Given the description of an element on the screen output the (x, y) to click on. 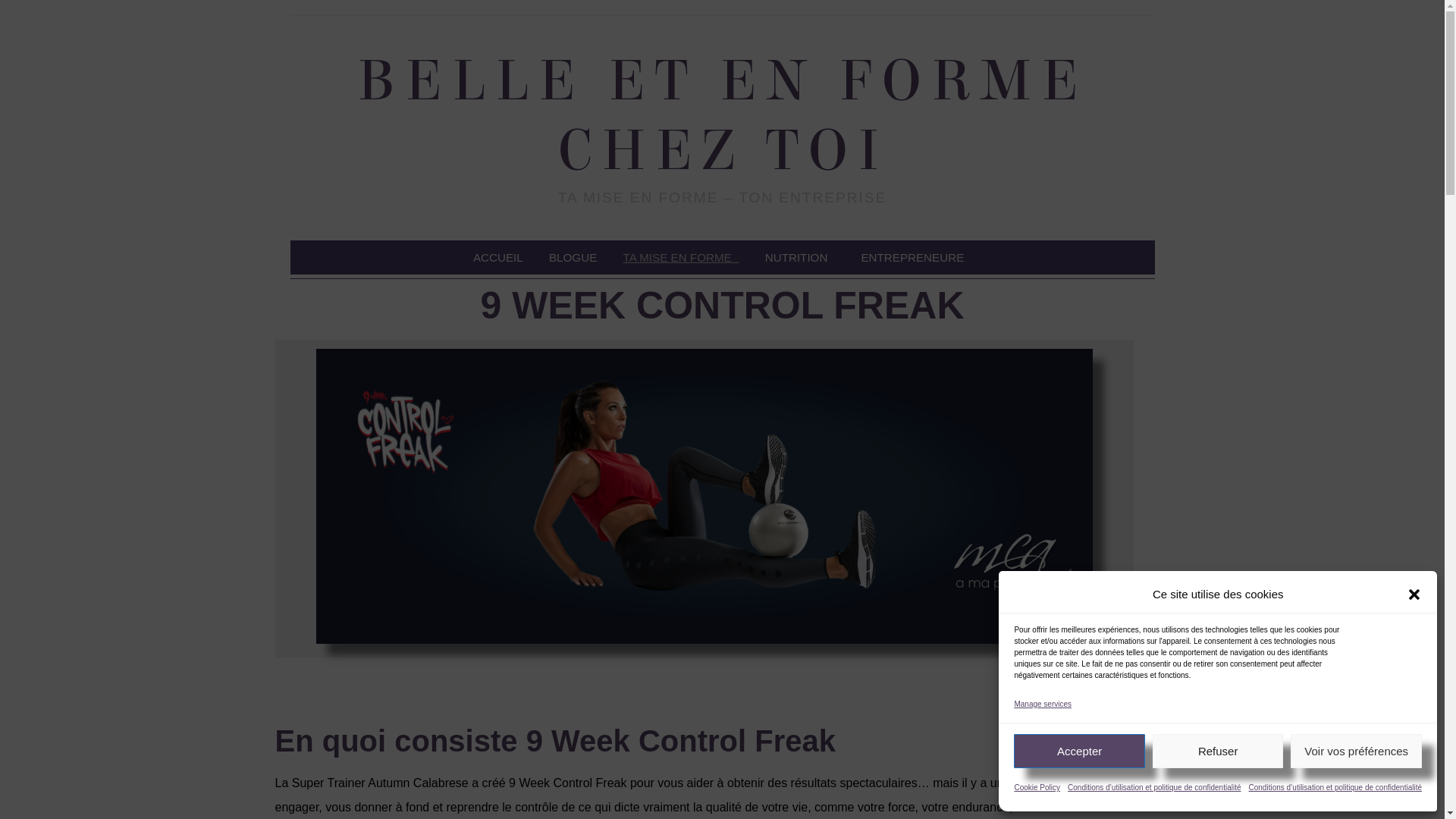
Accepter Element type: text (1079, 751)
Cookie Policy Element type: text (1036, 787)
ENTREPRENEURE Element type: text (915, 257)
NUTRITION Element type: text (799, 257)
BELLE ET EN FORME CHEZ TOI Element type: text (721, 115)
TA MISE EN FORME Element type: text (680, 257)
Manage services Element type: text (1042, 704)
Refuser Element type: text (1217, 751)
ACCUEIL Element type: text (497, 257)
BLOGUE Element type: text (572, 257)
